Given the description of an element on the screen output the (x, y) to click on. 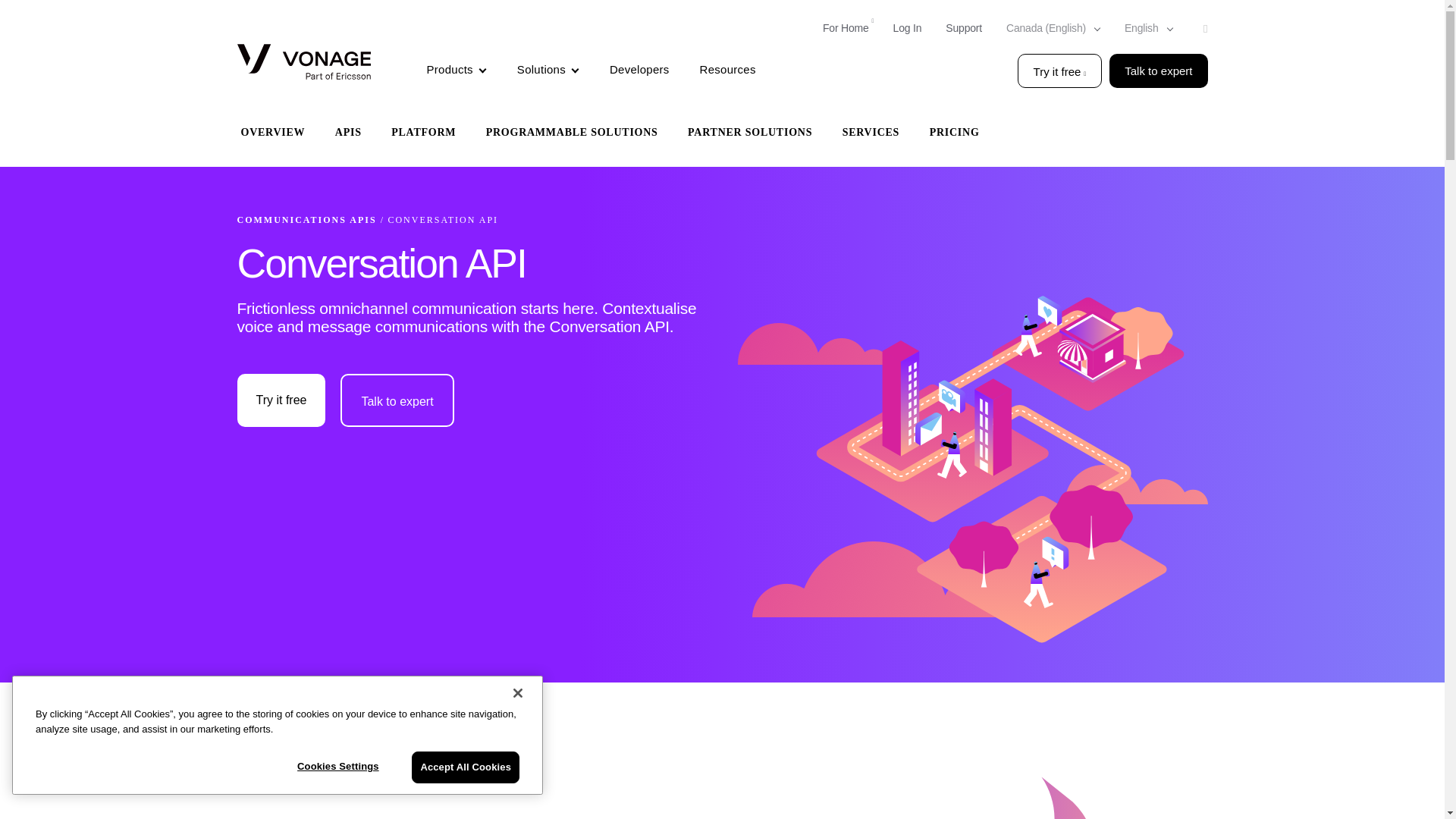
Products (456, 70)
